Given the description of an element on the screen output the (x, y) to click on. 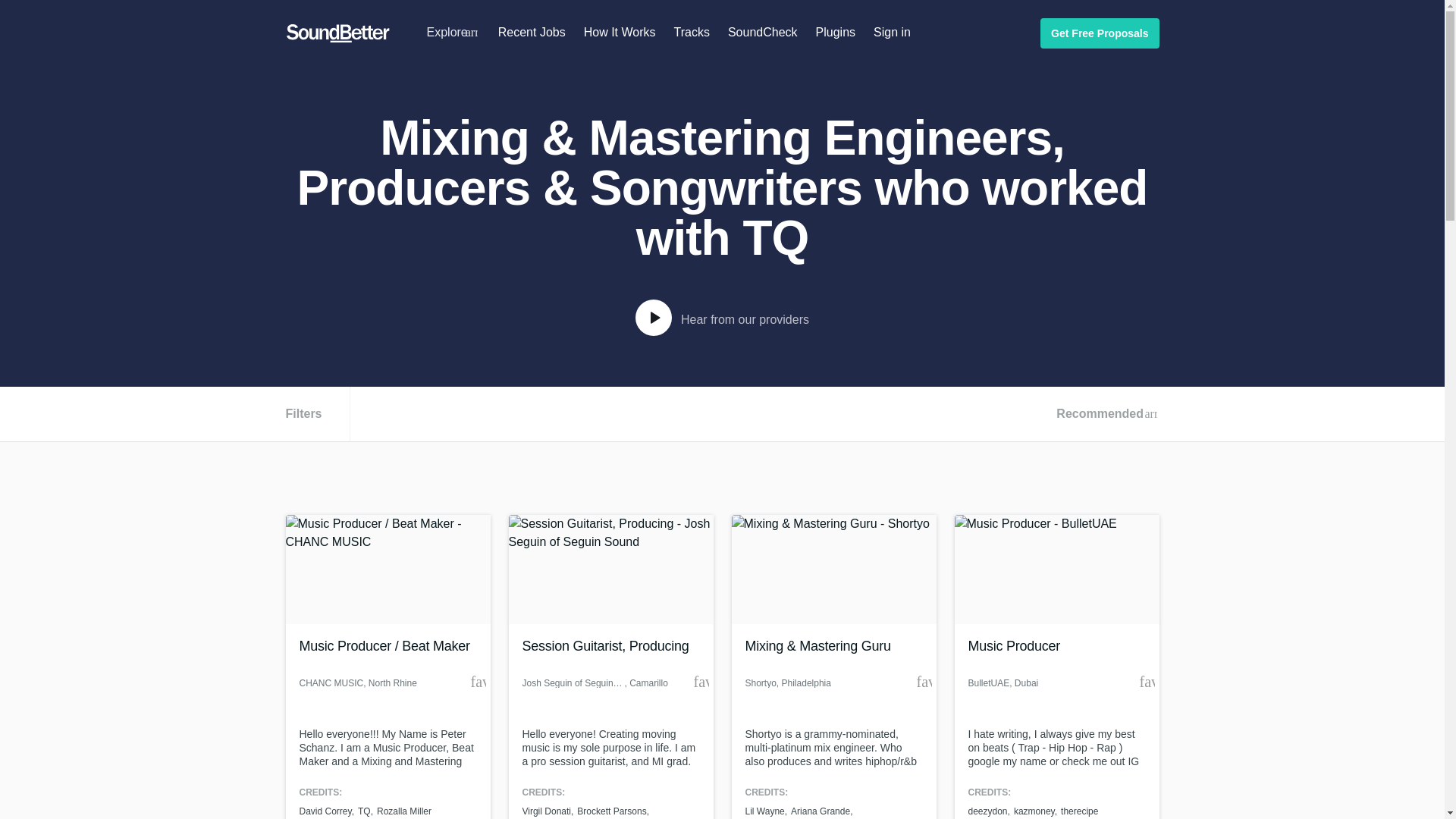
SoundBetter (337, 33)
